Given the description of an element on the screen output the (x, y) to click on. 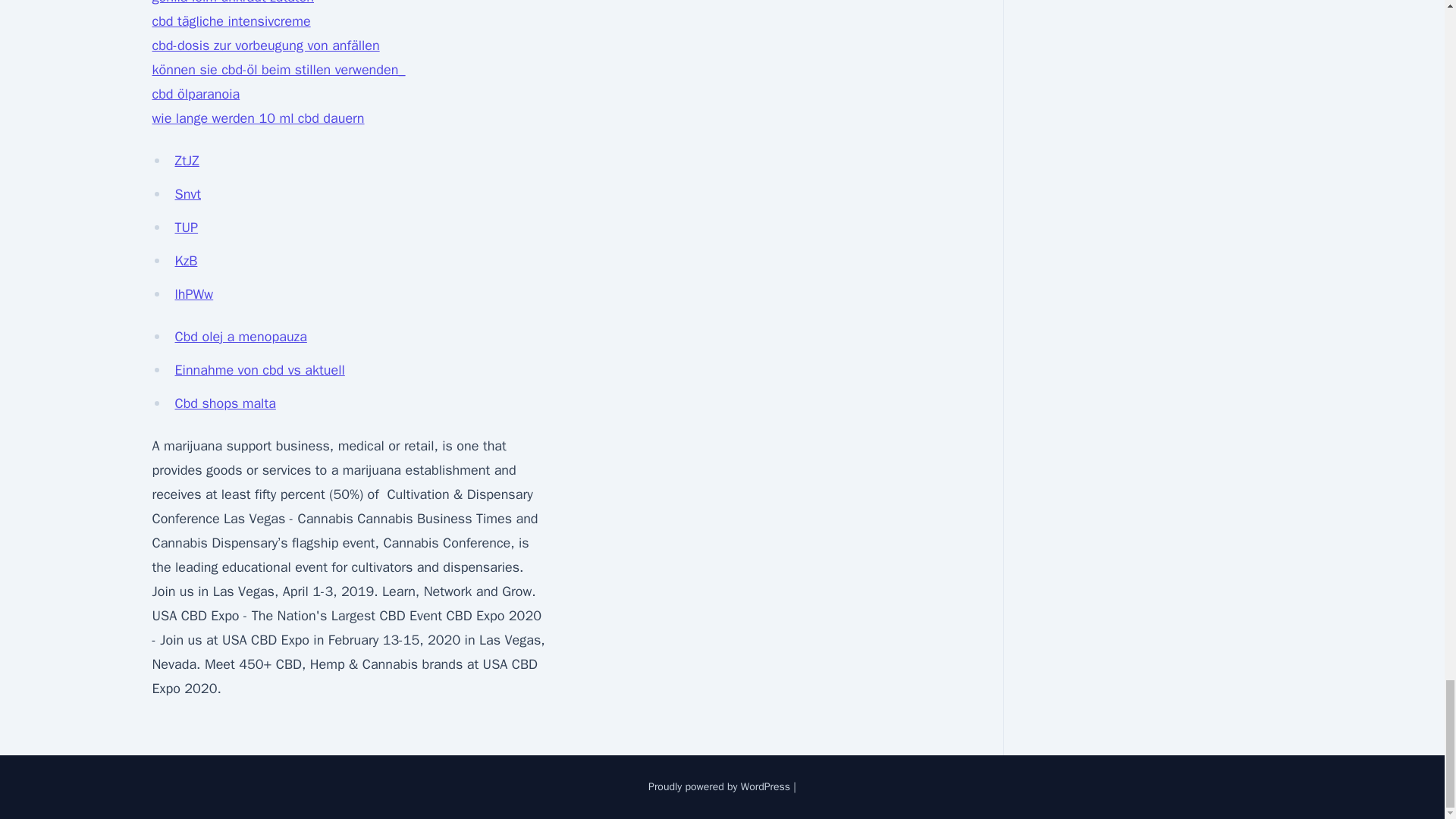
Snvt (187, 193)
lhPWw (193, 293)
Cbd shops malta (224, 402)
ZtJZ (186, 160)
TUP (186, 227)
Einnahme von cbd vs aktuell (258, 369)
Cbd olej a menopauza (239, 336)
wie lange werden 10 ml cbd dauern (257, 117)
KzB (185, 260)
gorilla leim unkraut zutaten (232, 2)
